Given the description of an element on the screen output the (x, y) to click on. 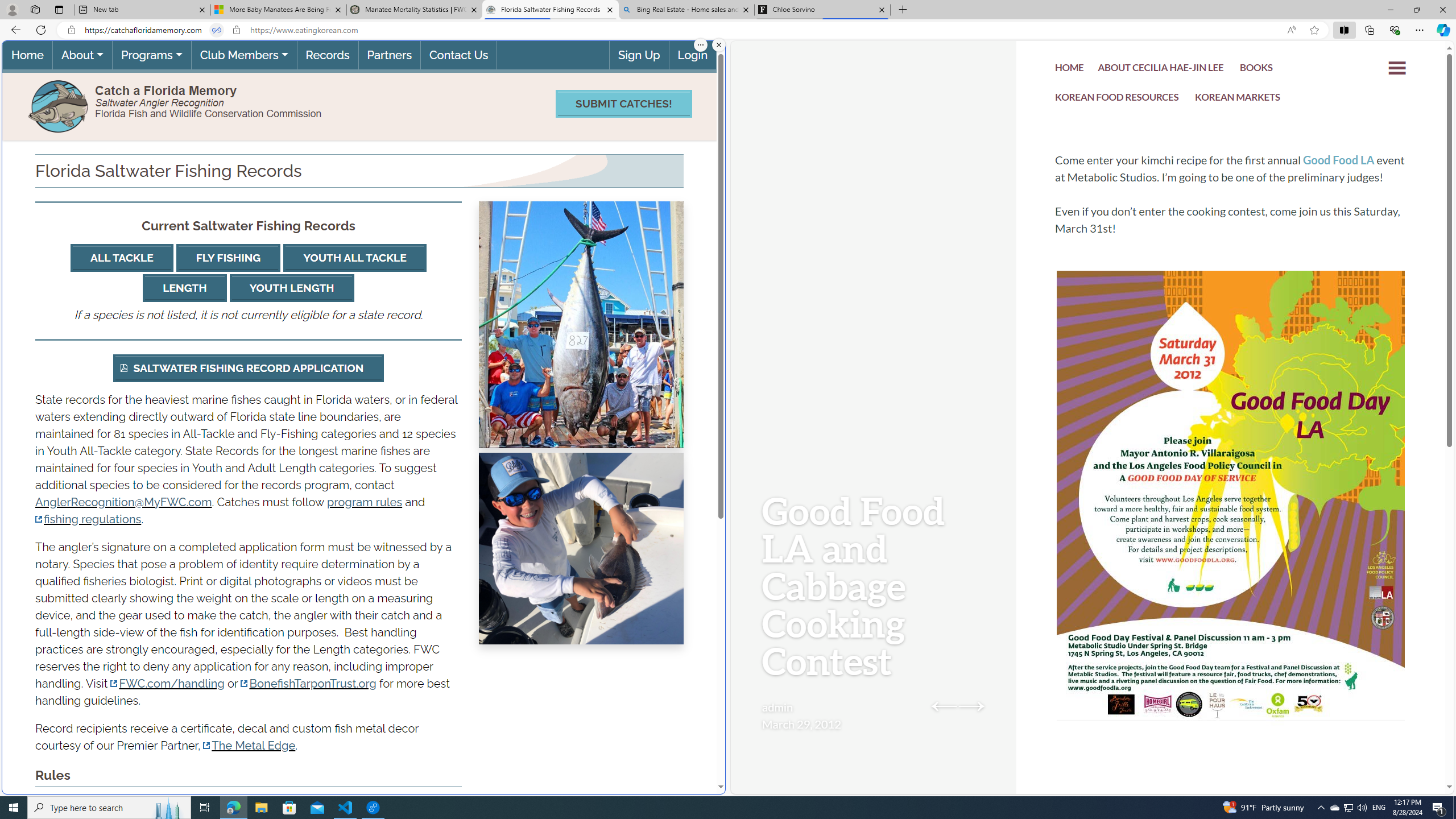
Bluefin tuna record (581, 324)
BOOKS (1256, 70)
More options. (700, 45)
Programs (151, 54)
Manatee Mortality Statistics | FWC (414, 9)
About (82, 54)
KOREAN MARKETS (1237, 99)
The Metal Edge (248, 745)
Records (327, 54)
LENGTH (184, 288)
